Given the description of an element on the screen output the (x, y) to click on. 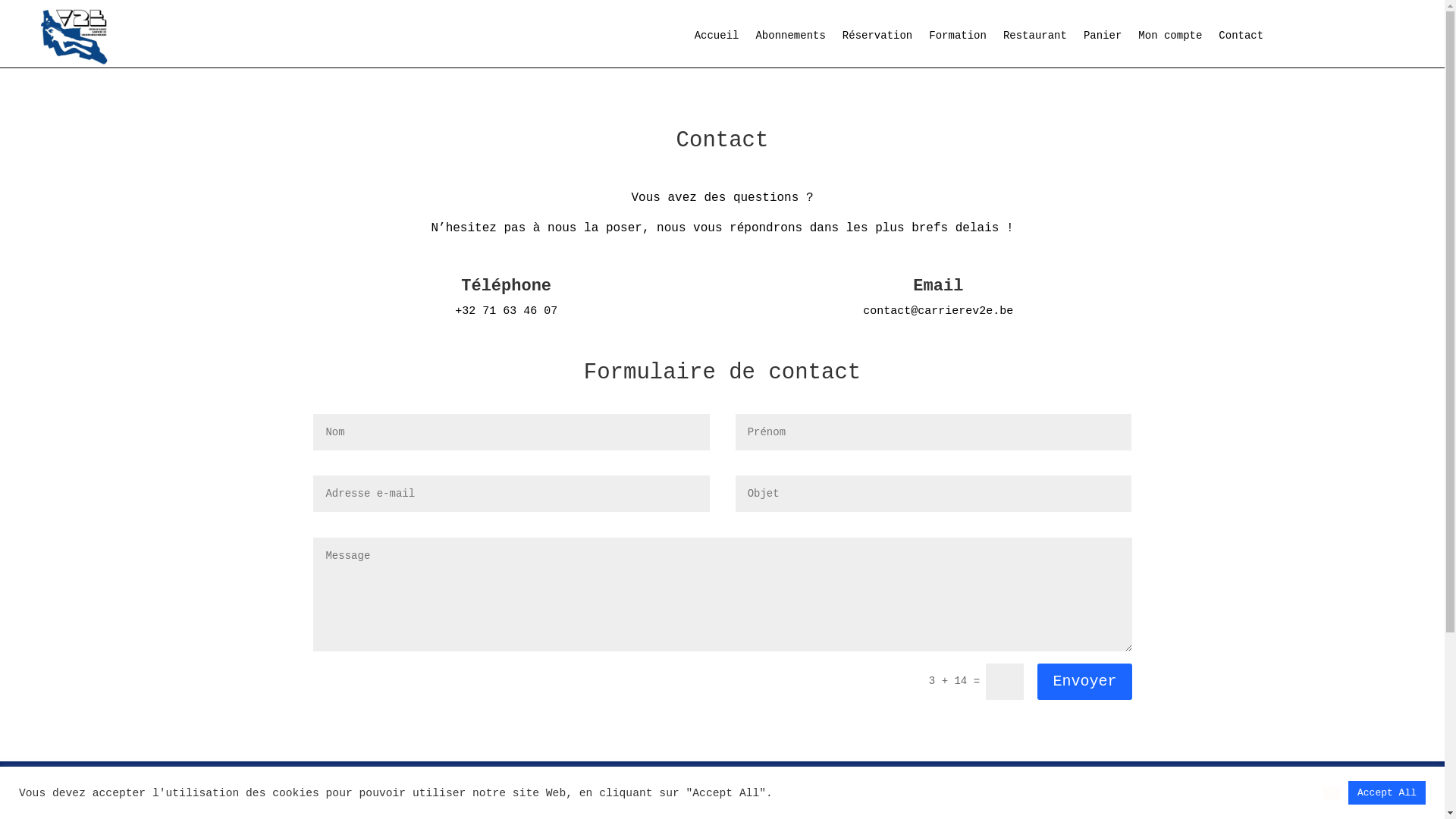
Restaurant Element type: text (1034, 38)
Envoyer Element type: text (1084, 681)
Formation Element type: text (957, 38)
Mon compte Element type: text (1169, 38)
Abonnements Element type: text (790, 38)
Contact Element type: text (1240, 38)
Accueil Element type: text (716, 38)
Accept All Element type: text (1386, 792)
Panier Element type: text (1102, 38)
